Given the description of an element on the screen output the (x, y) to click on. 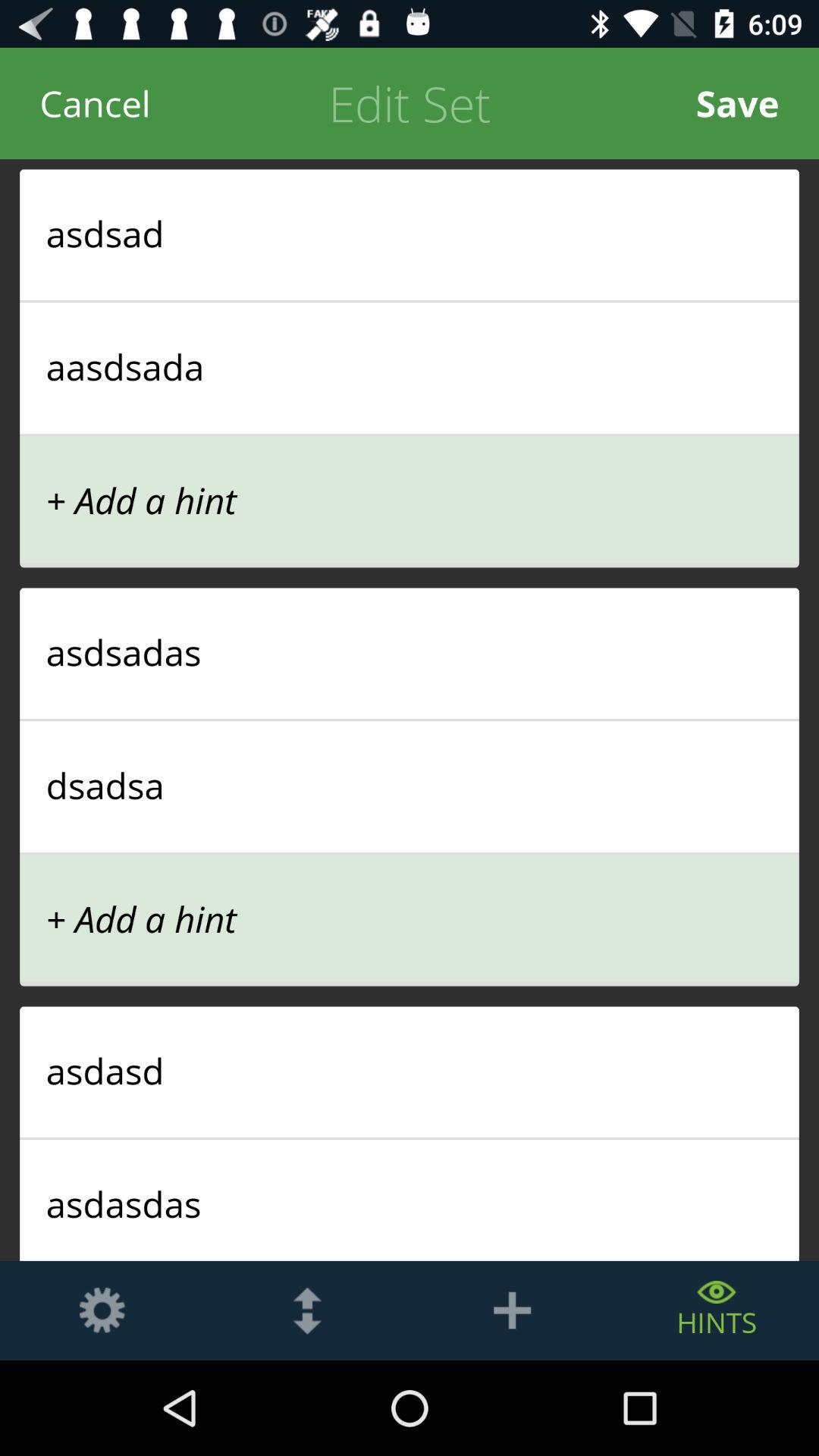
launch item to the left of the edit set item (95, 103)
